Given the description of an element on the screen output the (x, y) to click on. 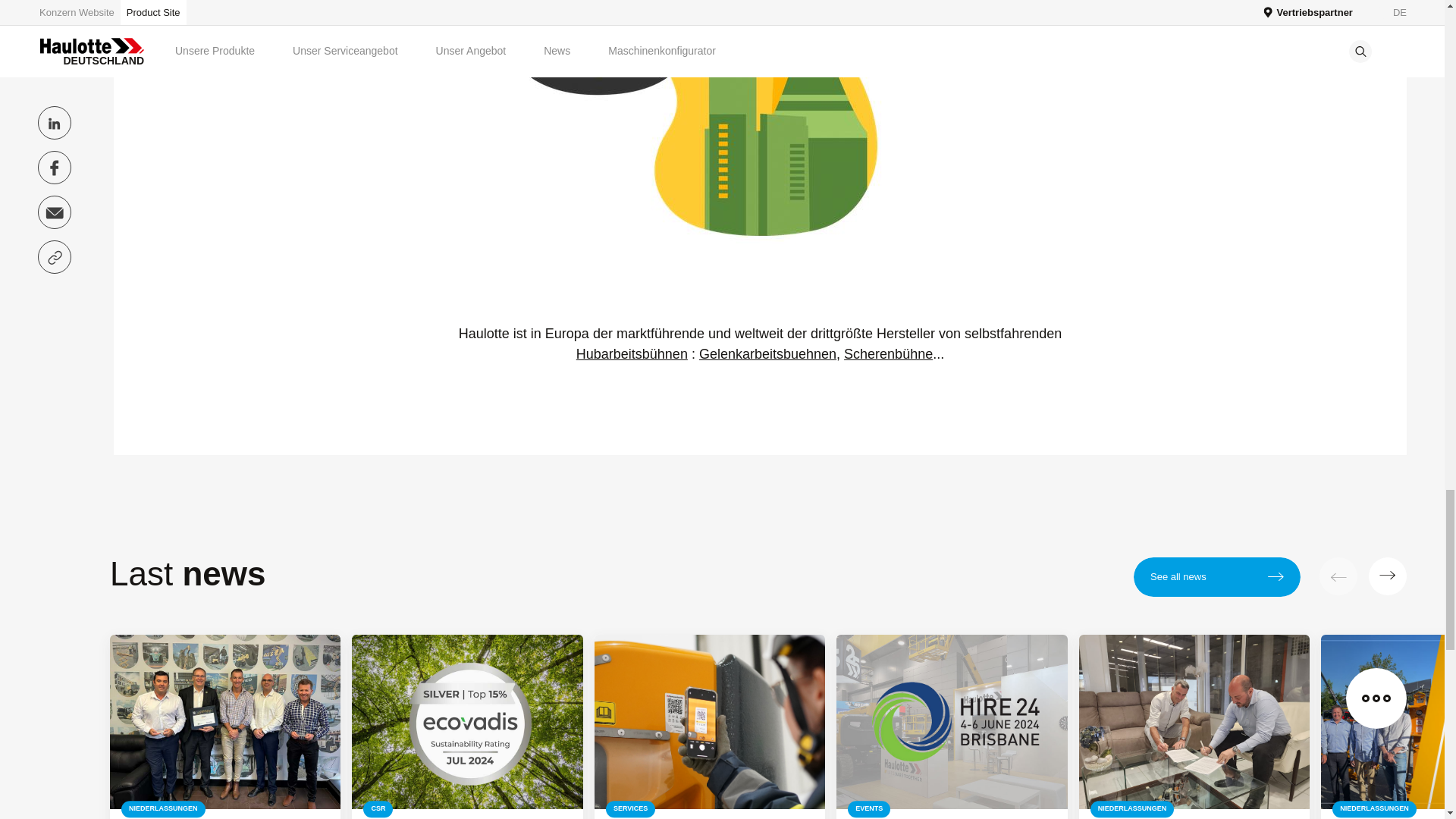
See all news (1217, 577)
